Given the description of an element on the screen output the (x, y) to click on. 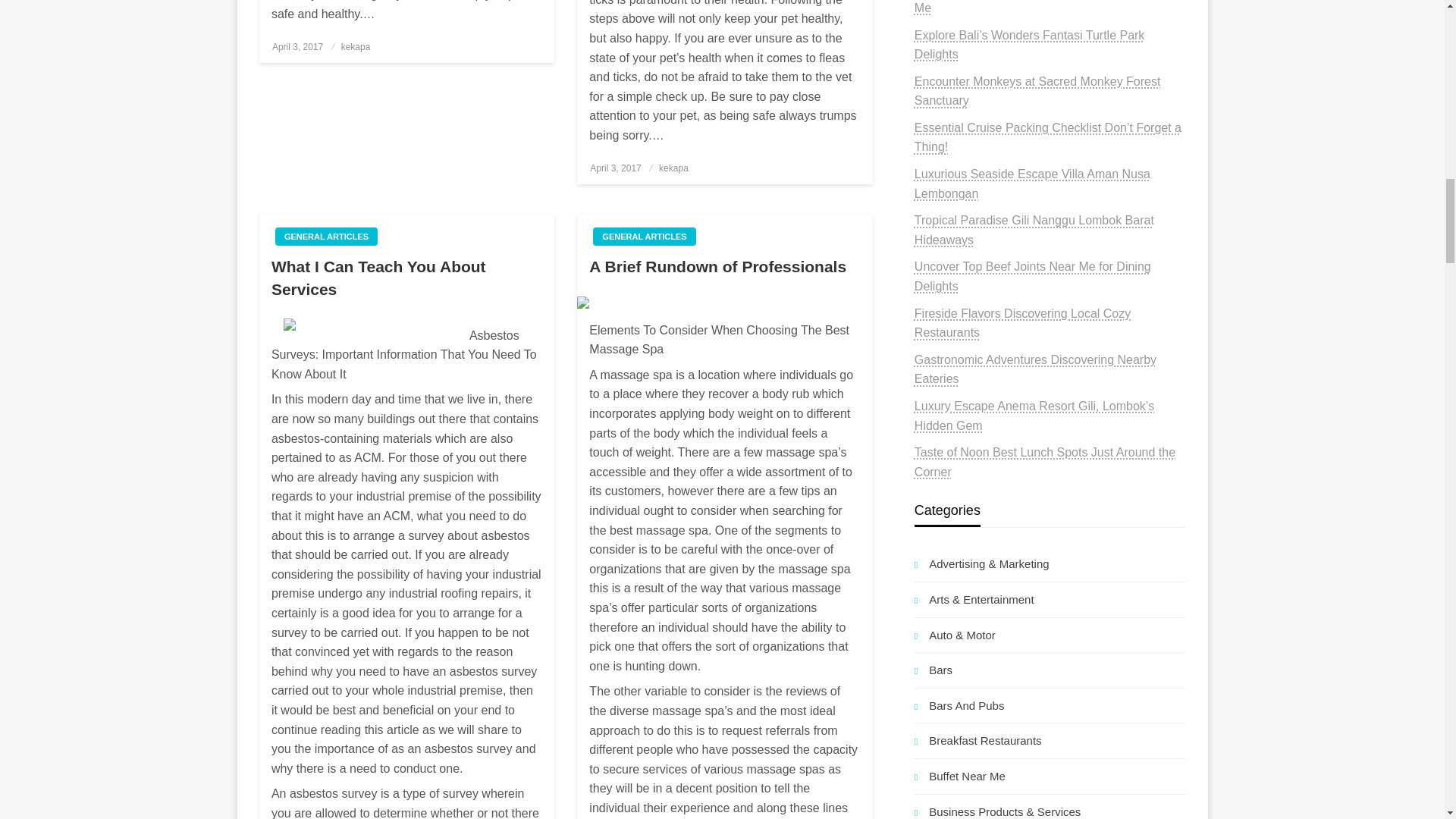
kekapa (673, 167)
kekapa (355, 46)
